Given the description of an element on the screen output the (x, y) to click on. 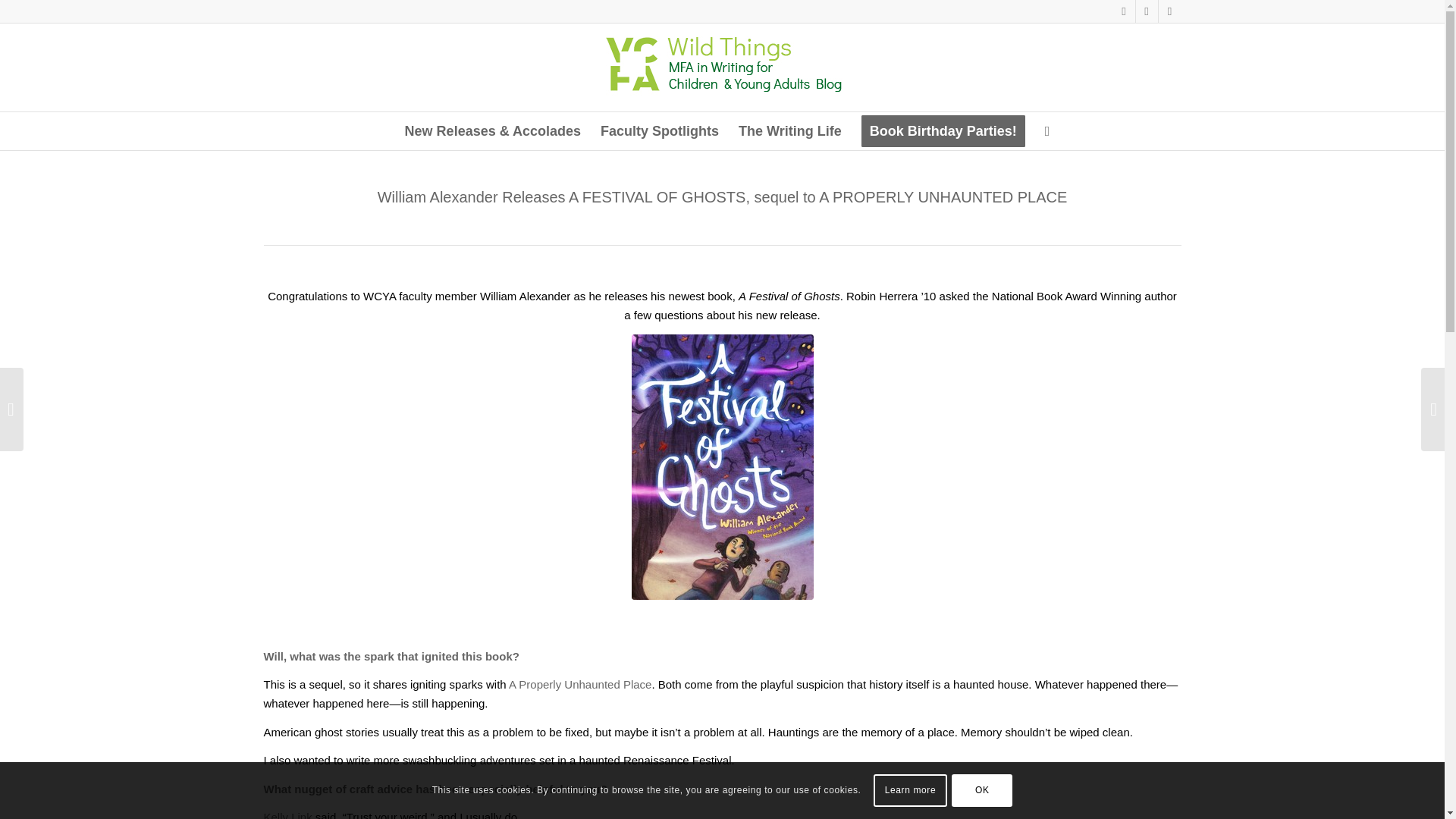
A Properly Unhaunted Place (579, 684)
Twitter (1169, 11)
Book Birthday Parties! (943, 130)
Instagram (1124, 11)
Facebook (1146, 11)
Faculty Spotlights (660, 130)
Learn more (910, 789)
The Writing Life (790, 130)
OK (981, 789)
Kelly Link (288, 814)
